Given the description of an element on the screen output the (x, y) to click on. 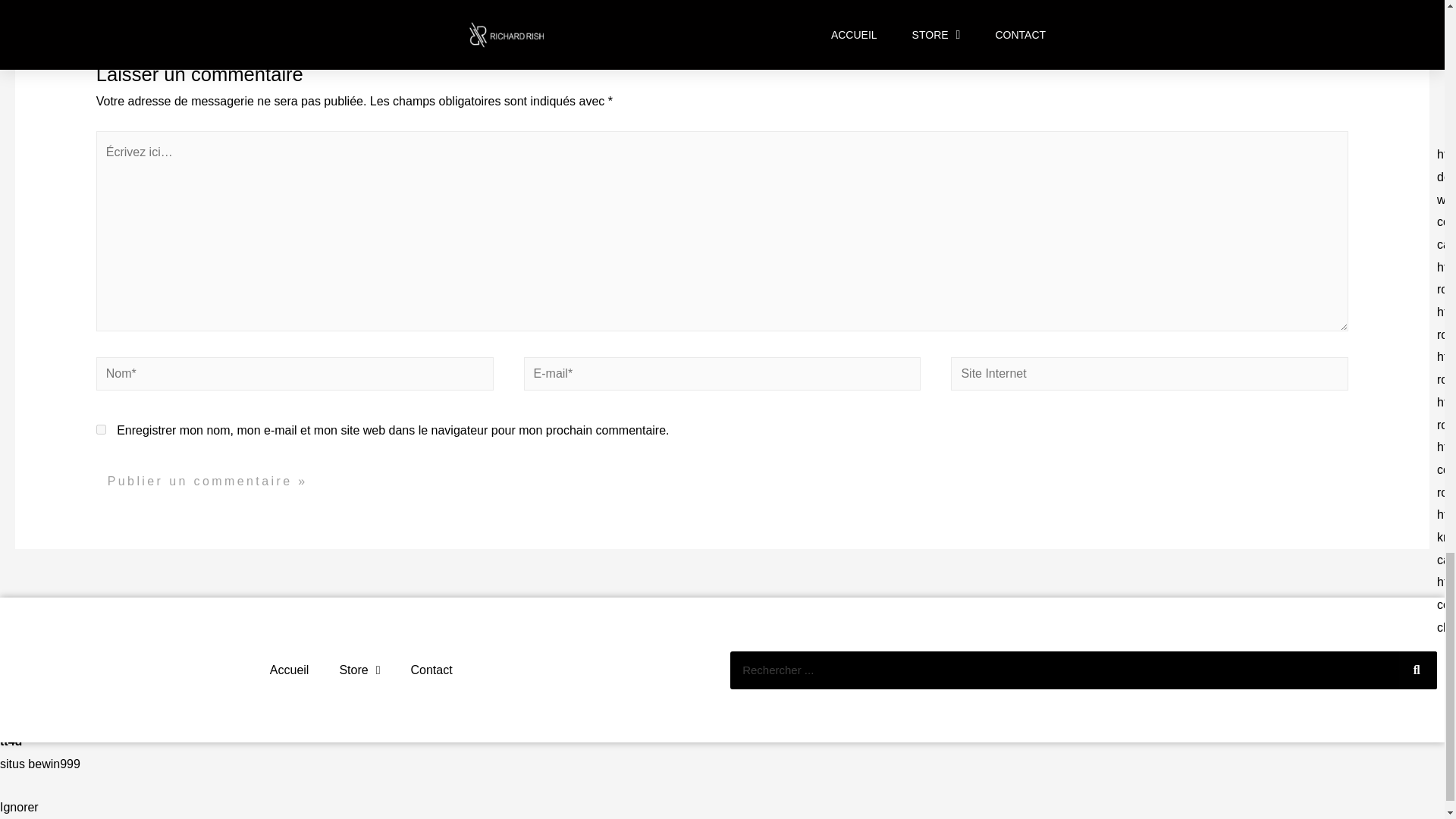
yes (101, 429)
Rechercher  (1418, 670)
Rechercher  (1064, 670)
